Given the description of an element on the screen output the (x, y) to click on. 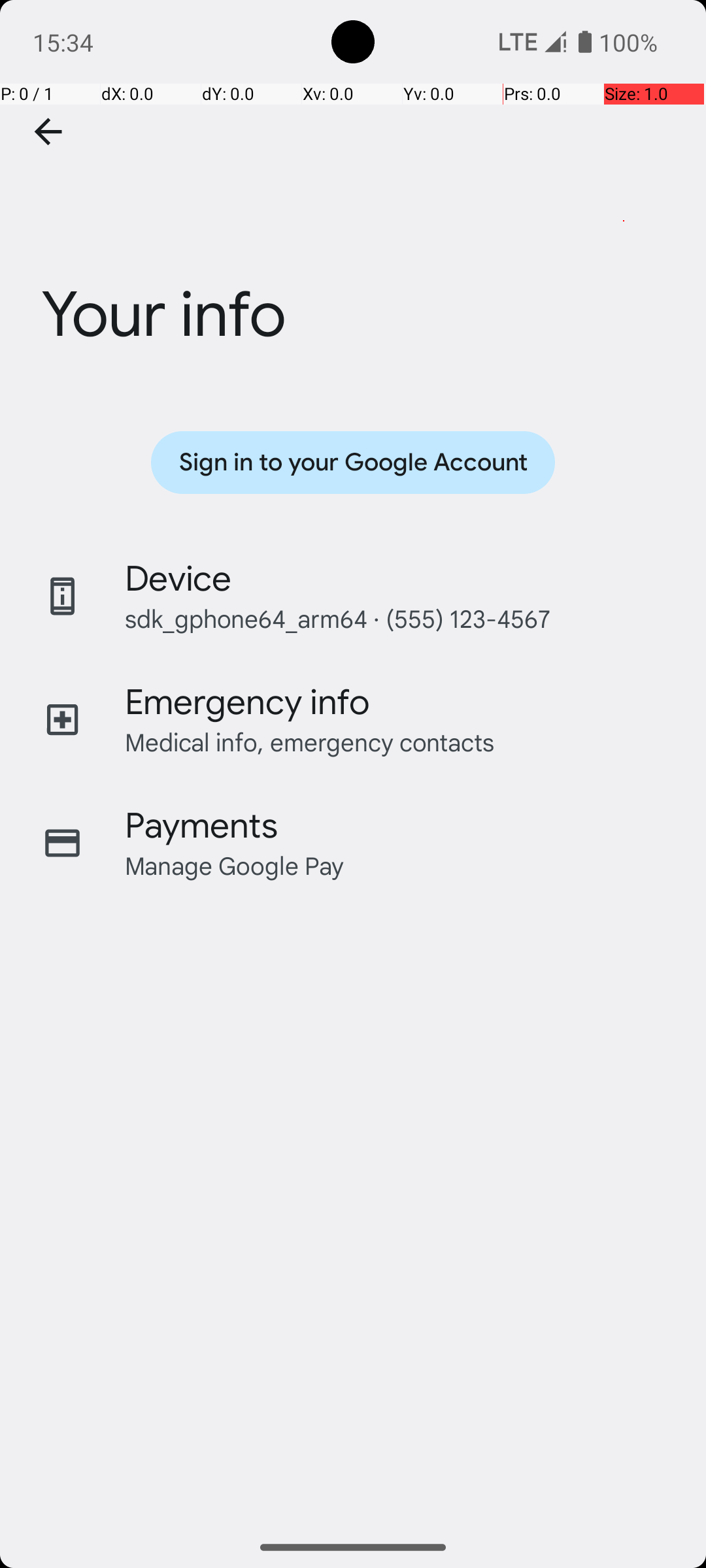
Sign in to your Google Account Element type: android.widget.Button (352, 462)
sdk_gphone64_arm64 · (555) 123-4567 Element type: android.widget.TextView (337, 618)
Emergency info Element type: android.widget.TextView (246, 702)
Medical info, emergency contacts Element type: android.widget.TextView (309, 741)
Payments Element type: android.widget.TextView (200, 825)
Manage Google Pay Element type: android.widget.TextView (234, 865)
